Given the description of an element on the screen output the (x, y) to click on. 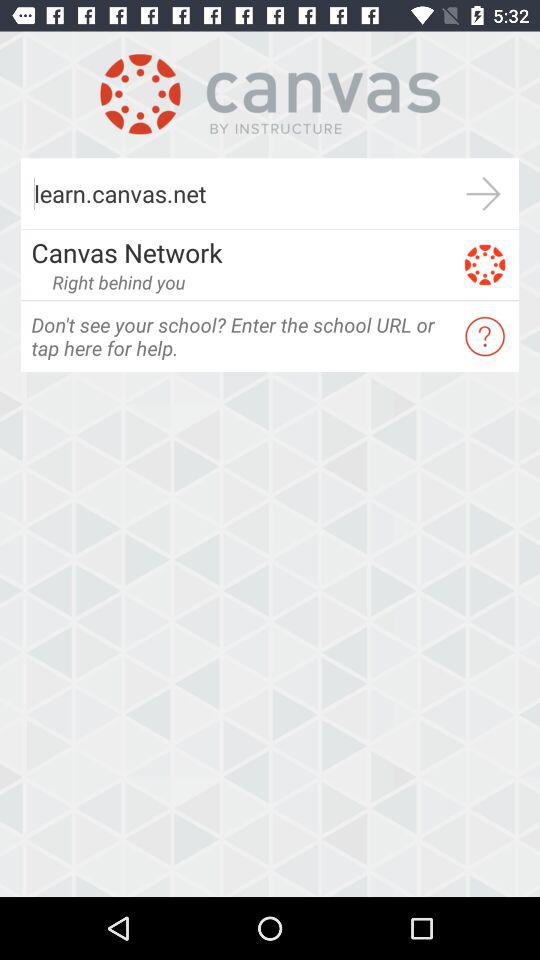
further details (483, 193)
